Given the description of an element on the screen output the (x, y) to click on. 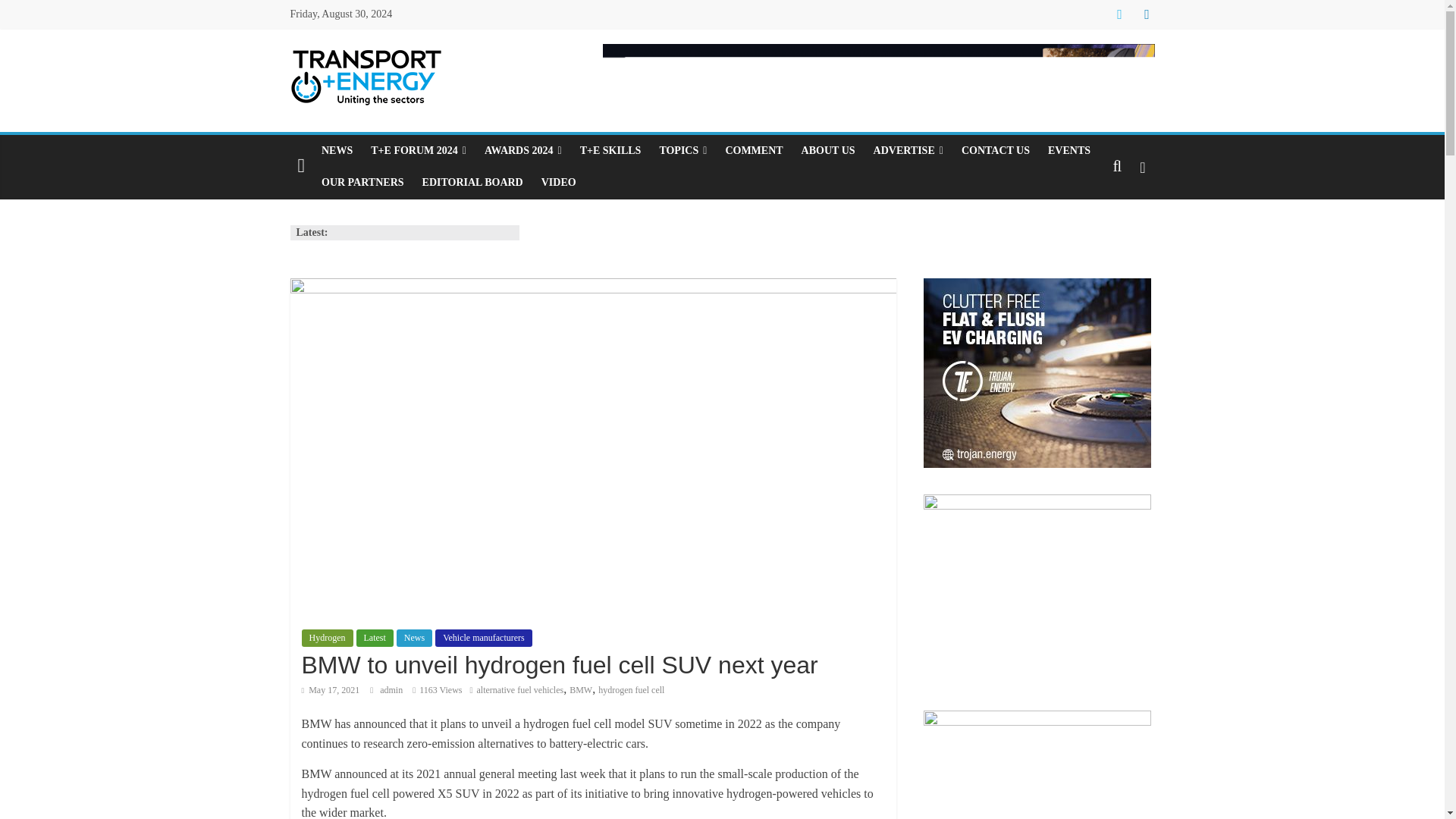
TOPICS (682, 151)
COMMENT (754, 151)
AWARDS 2024 (523, 151)
admin (392, 689)
9:15 am (330, 689)
NEWS (337, 151)
